Given the description of an element on the screen output the (x, y) to click on. 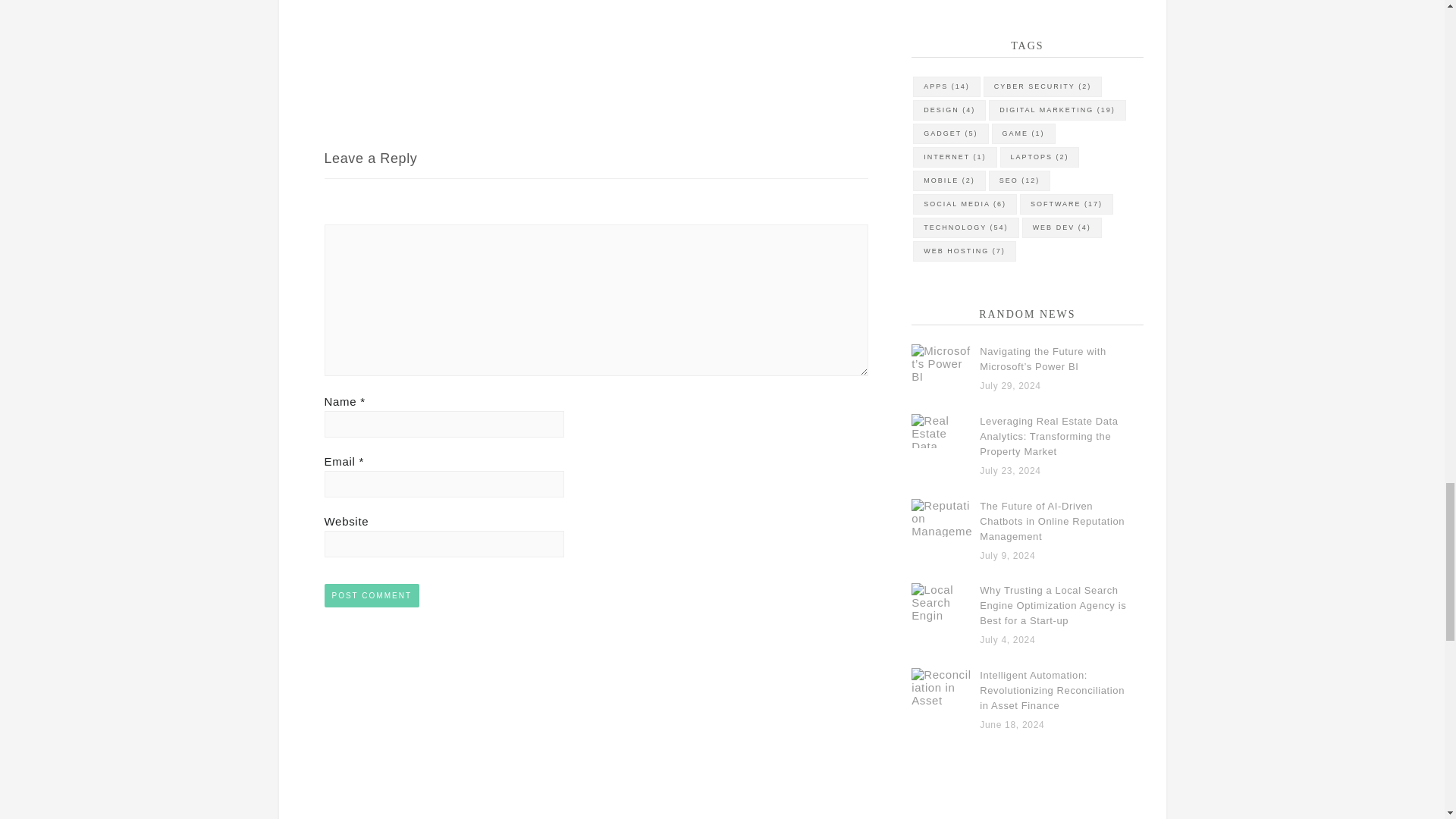
Post Comment (371, 595)
